Given the description of an element on the screen output the (x, y) to click on. 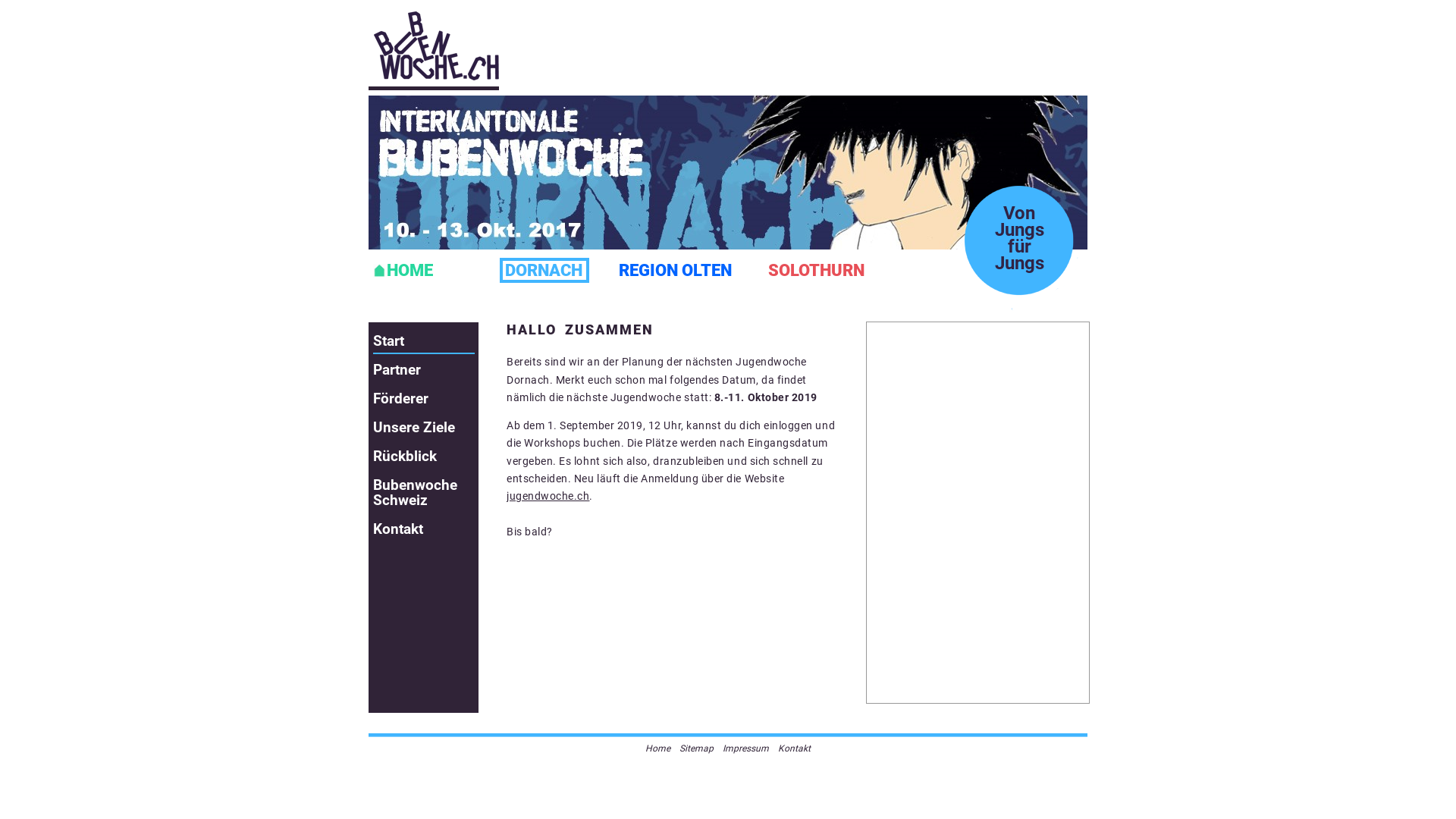
HOME Element type: text (422, 269)
Bubenwoche Schweiz Element type: text (423, 492)
DORNACH Element type: text (544, 269)
Sitemap Element type: text (696, 748)
SOLOTHURN Element type: text (816, 269)
REGION OLTEN Element type: text (674, 269)
Start Element type: text (423, 341)
jugendwoche.ch Element type: text (547, 495)
Partner Element type: text (423, 369)
Home Element type: text (657, 748)
Kontakt Element type: text (423, 528)
Unsere Ziele Element type: text (423, 427)
Impressum Element type: text (745, 748)
Kontakt Element type: text (794, 748)
